Given the description of an element on the screen output the (x, y) to click on. 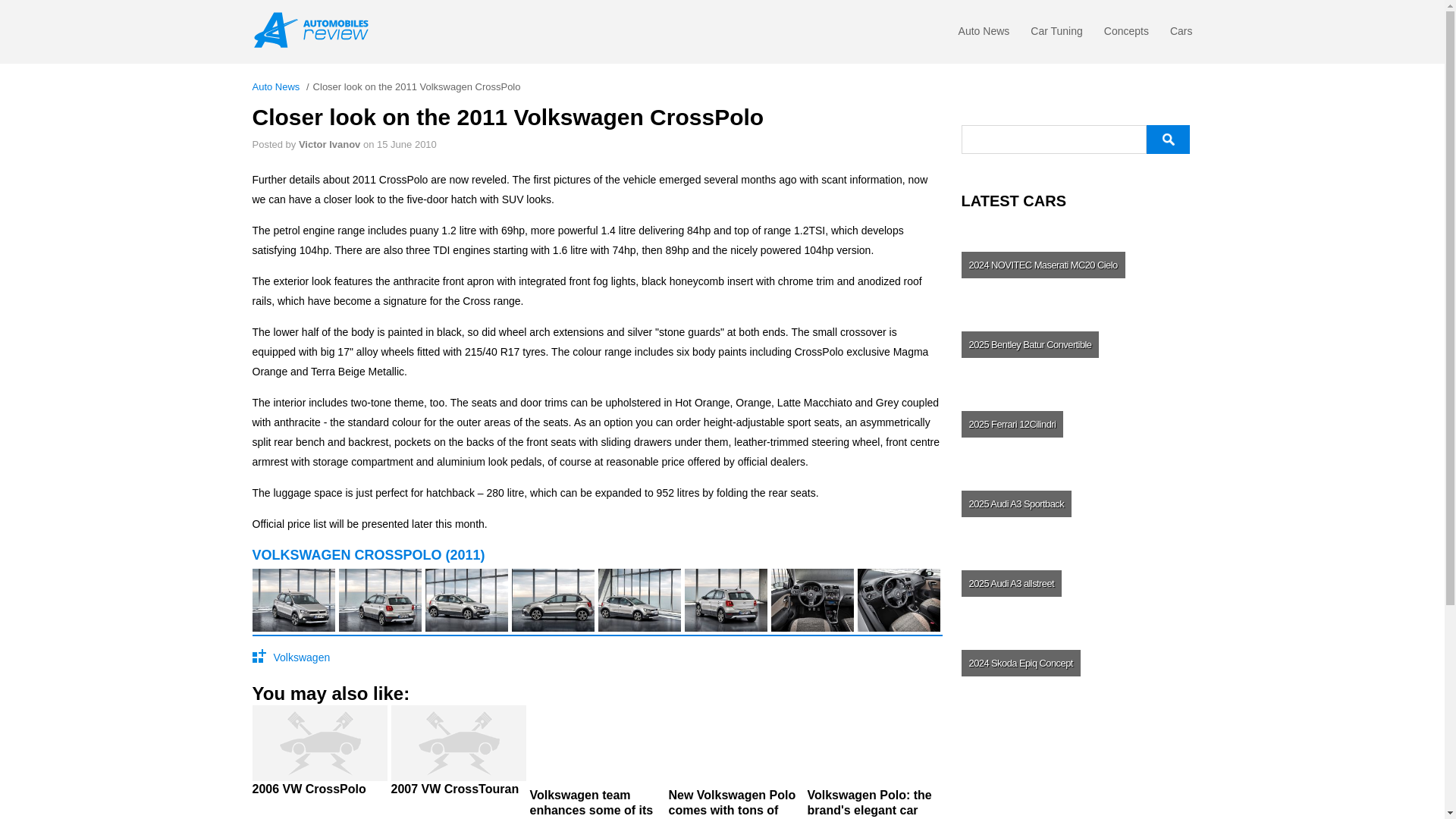
Automobilesreview.com (315, 30)
Concepts (1125, 35)
Auto News (984, 35)
Cars (1181, 35)
VW CrossPolo (319, 756)
Bentley Batur Convertible (1074, 344)
VW CrossTouran (458, 756)
Volkswagen (301, 657)
LATEST CARS (1076, 200)
Skoda Epiq Concept (1074, 662)
Audi A3 allstreet (1074, 582)
Cars (1181, 35)
NOVITEC Maserati MC20 Cielo (1074, 264)
Auto News (984, 35)
